Given the description of an element on the screen output the (x, y) to click on. 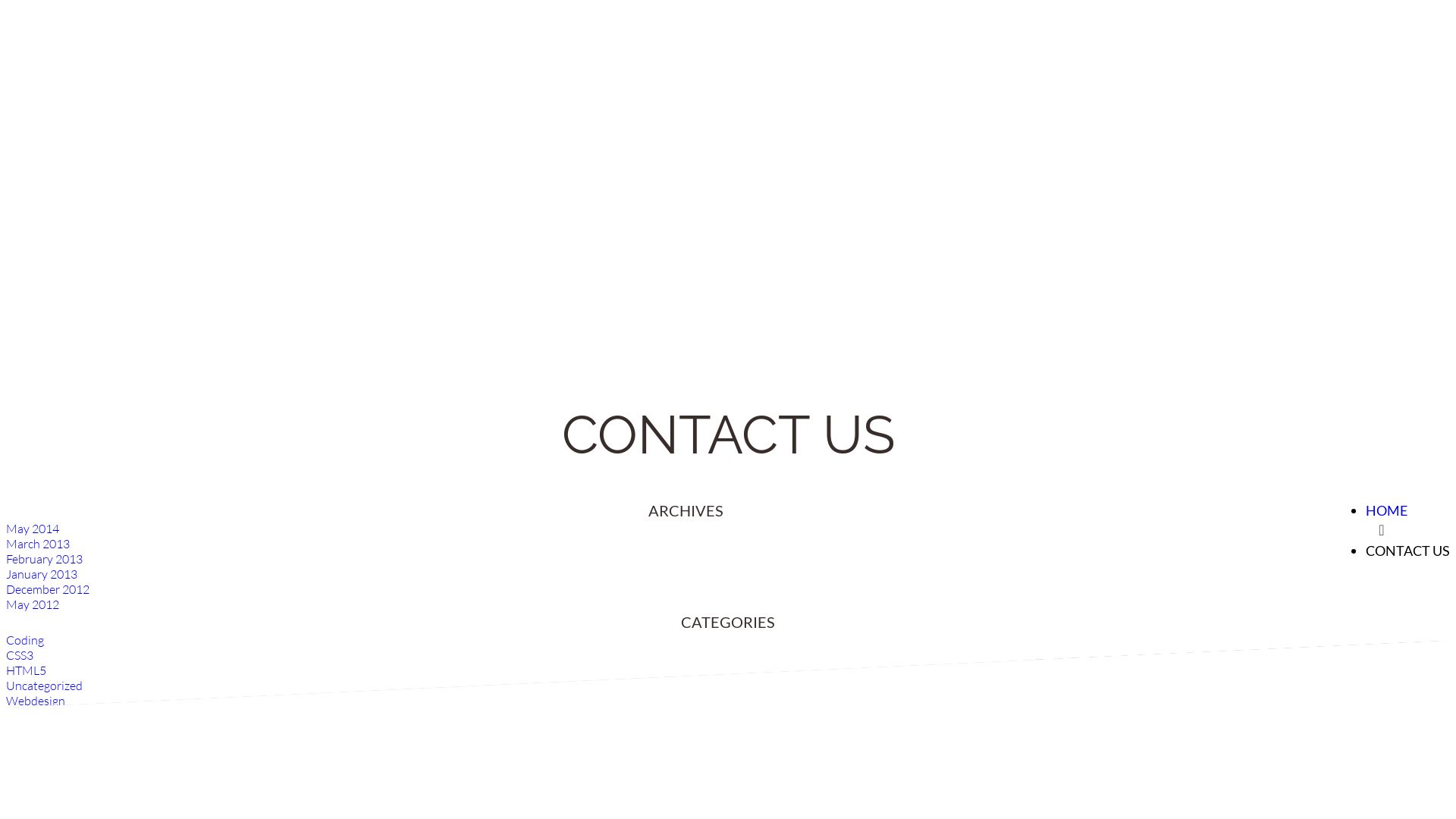
Webdesign Element type: text (35, 700)
December 2012 Element type: text (47, 588)
March 2013 Element type: text (37, 543)
Uncategorized Element type: text (44, 685)
Coding Element type: text (24, 639)
January 2013 Element type: text (41, 573)
February 2013 Element type: text (44, 558)
HOME Element type: text (1386, 510)
HTML5 Element type: text (26, 669)
CSS3 Element type: text (19, 654)
May 2012 Element type: text (32, 603)
May 2014 Element type: text (32, 528)
